Given the description of an element on the screen output the (x, y) to click on. 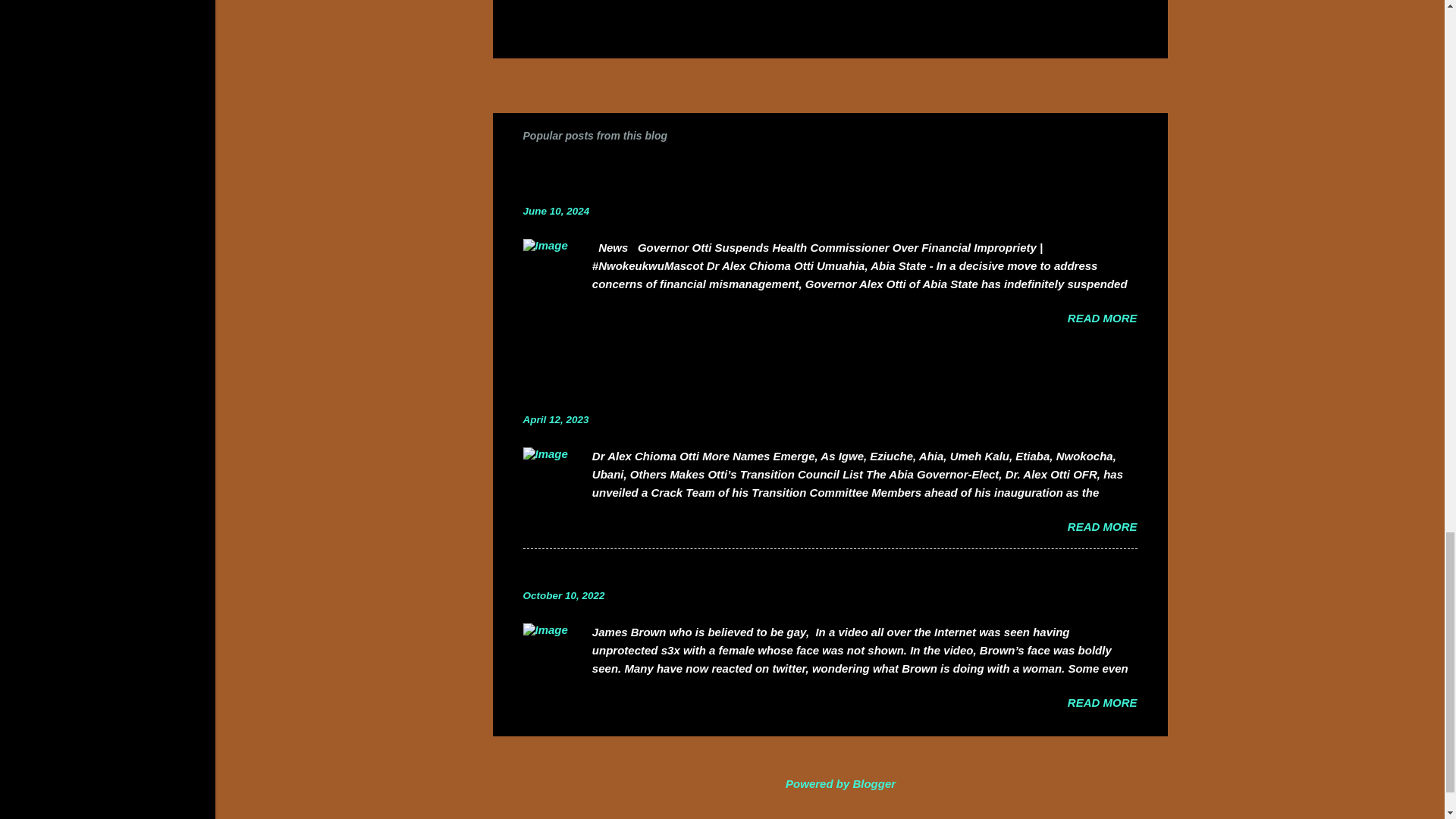
READ MORE (1102, 318)
April 12, 2023 (555, 419)
June 10, 2024 (555, 211)
